Given the description of an element on the screen output the (x, y) to click on. 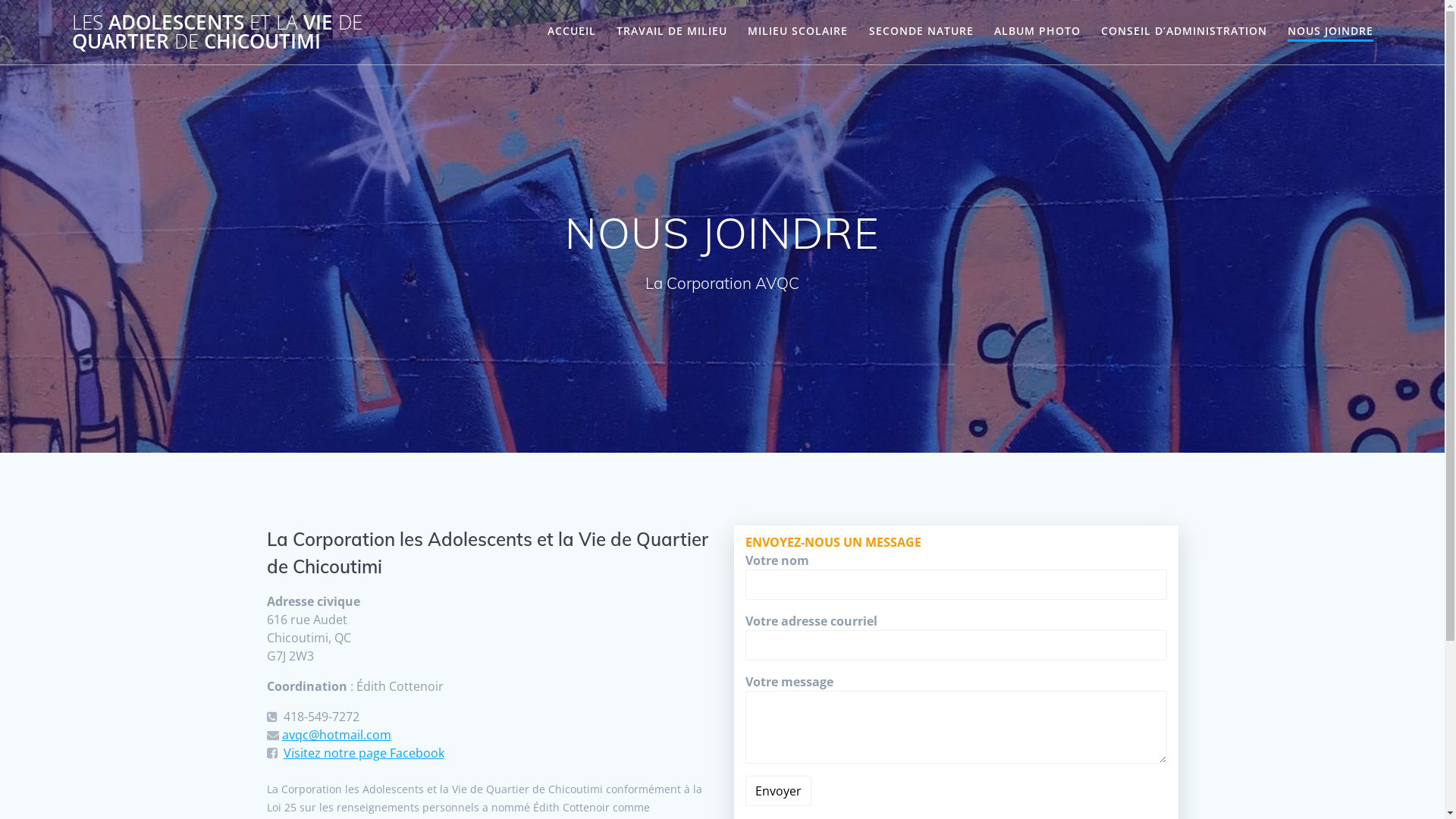
Envoyer Element type: text (777, 790)
TRAVAIL DE MILIEU Element type: text (671, 30)
LES ADOLESCENTS ET LA VIE DE QUARTIER DE CHICOUTIMI Element type: text (258, 31)
SECONDE NATURE Element type: text (921, 30)
avqc@hotmail.com Element type: text (336, 734)
ACCUEIL Element type: text (571, 30)
ALBUM PHOTO Element type: text (1037, 30)
Visitez notre page Facebook Element type: text (363, 752)
MILIEU SCOLAIRE Element type: text (797, 30)
NOUS JOINDRE Element type: text (1330, 31)
